Given the description of an element on the screen output the (x, y) to click on. 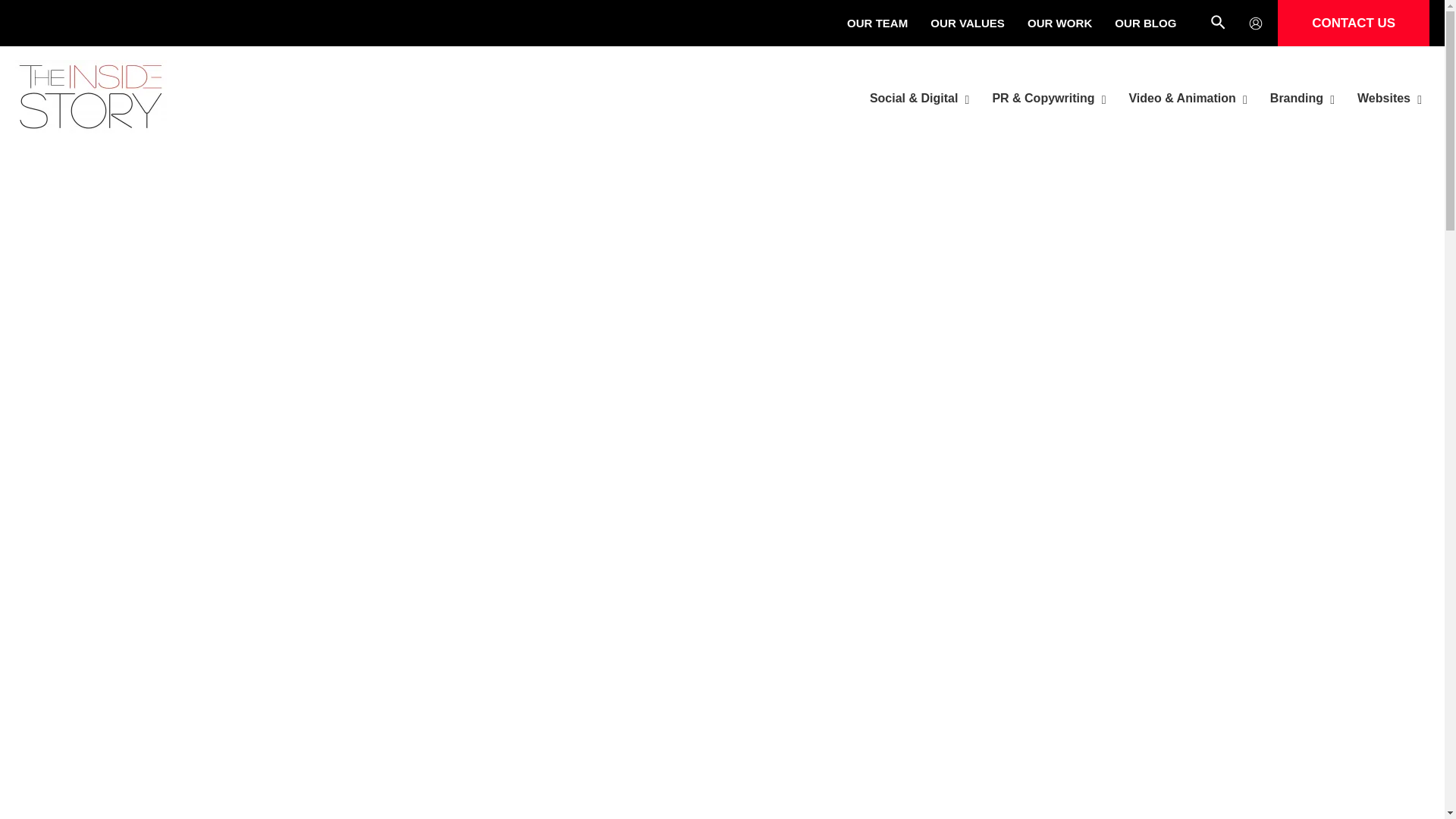
OUR VALUES (967, 23)
CONTACT US (1353, 22)
OUR TEAM (876, 23)
Log In (689, 641)
OUR BLOG (1145, 23)
OUR WORK (1059, 23)
